Given the description of an element on the screen output the (x, y) to click on. 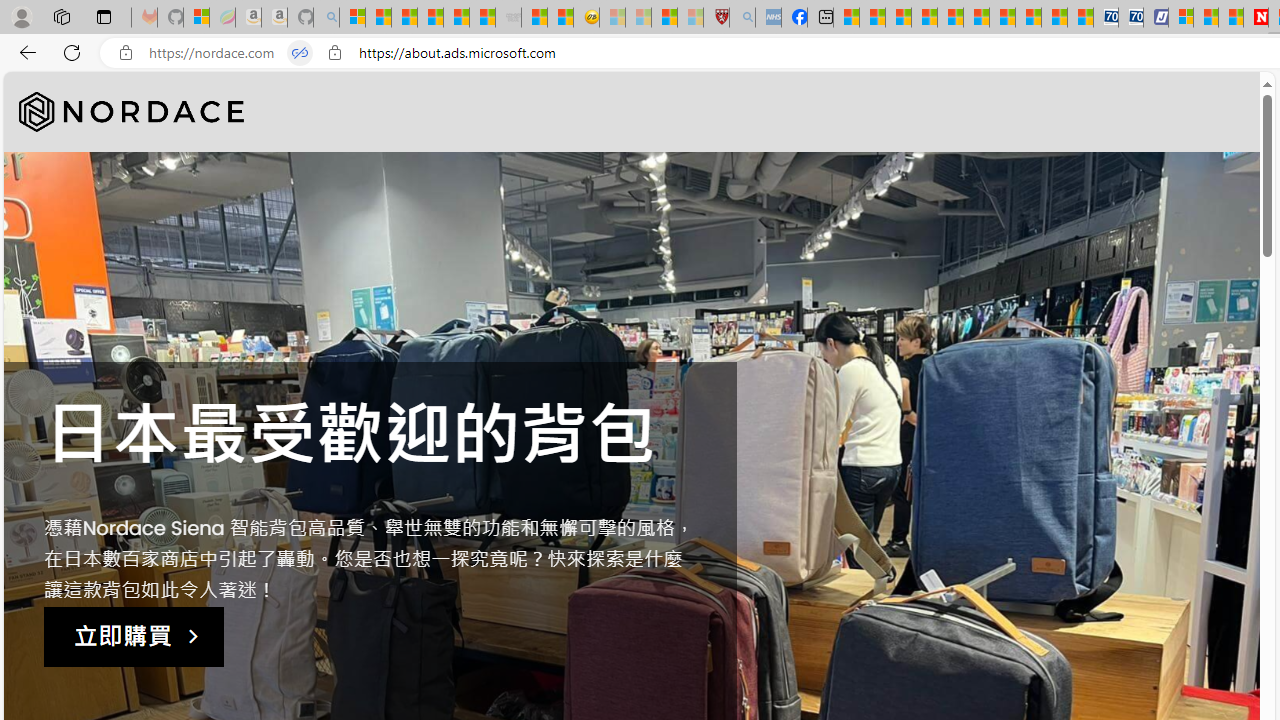
Climate Damage Becomes Too Severe To Reverse (923, 17)
